Given the description of an element on the screen output the (x, y) to click on. 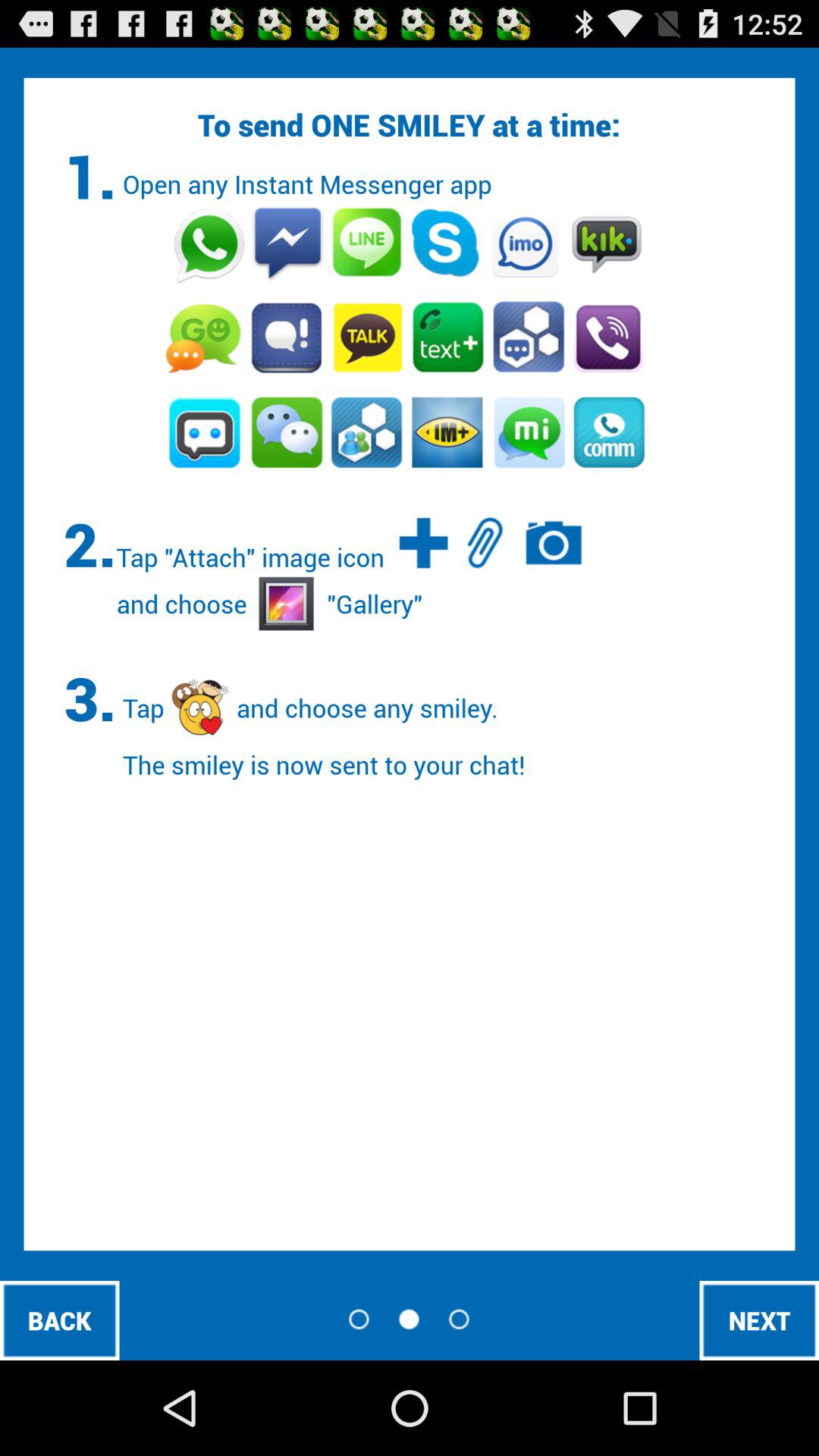
turn on button at the bottom right corner (759, 1320)
